Given the description of an element on the screen output the (x, y) to click on. 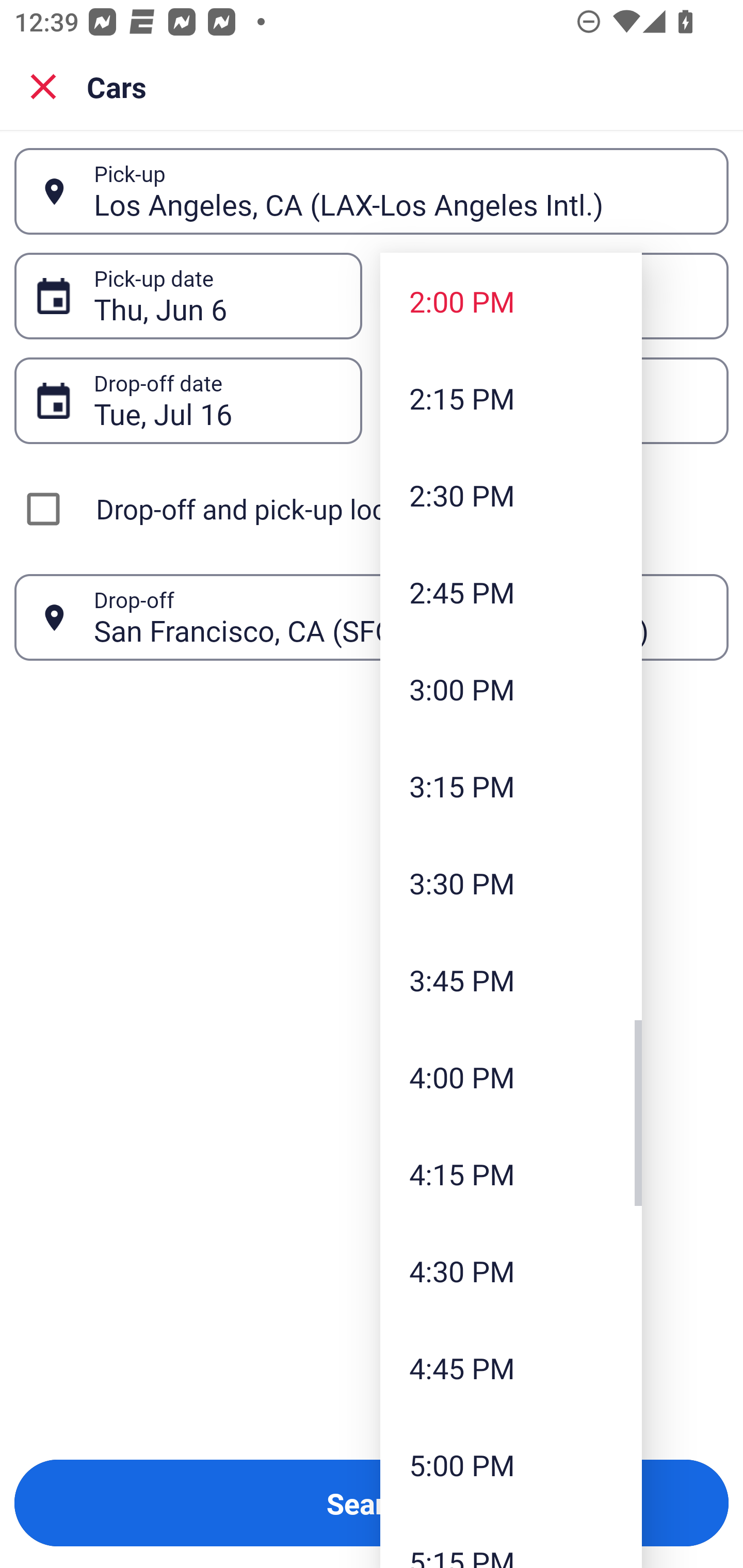
2:00 PM (510, 300)
2:15 PM (510, 397)
2:30 PM (510, 495)
2:45 PM (510, 592)
3:00 PM (510, 688)
3:15 PM (510, 785)
3:30 PM (510, 882)
3:45 PM (510, 979)
4:00 PM (510, 1076)
4:15 PM (510, 1174)
4:30 PM (510, 1270)
4:45 PM (510, 1366)
5:00 PM (510, 1464)
